Given the description of an element on the screen output the (x, y) to click on. 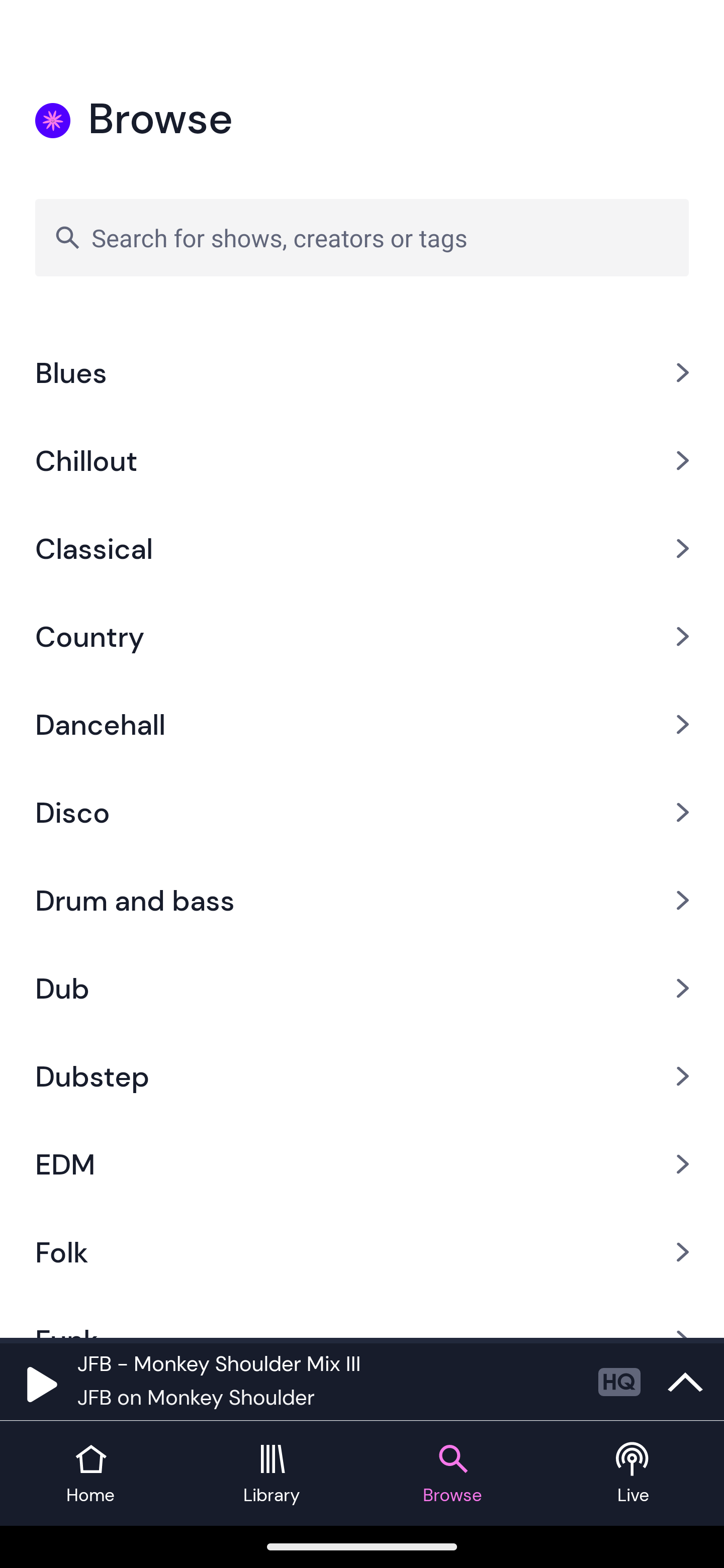
Search for shows, creators or tags (361, 237)
Blues (361, 373)
Chillout (361, 460)
Classical (361, 548)
Country (361, 636)
Dancehall (361, 724)
Disco (361, 812)
Drum and bass (361, 899)
Dub (361, 987)
Dubstep (361, 1075)
EDM (361, 1163)
Folk (361, 1252)
Home tab Home (90, 1473)
Library tab Library (271, 1473)
Browse tab Browse (452, 1473)
Live tab Live (633, 1473)
